Given the description of an element on the screen output the (x, y) to click on. 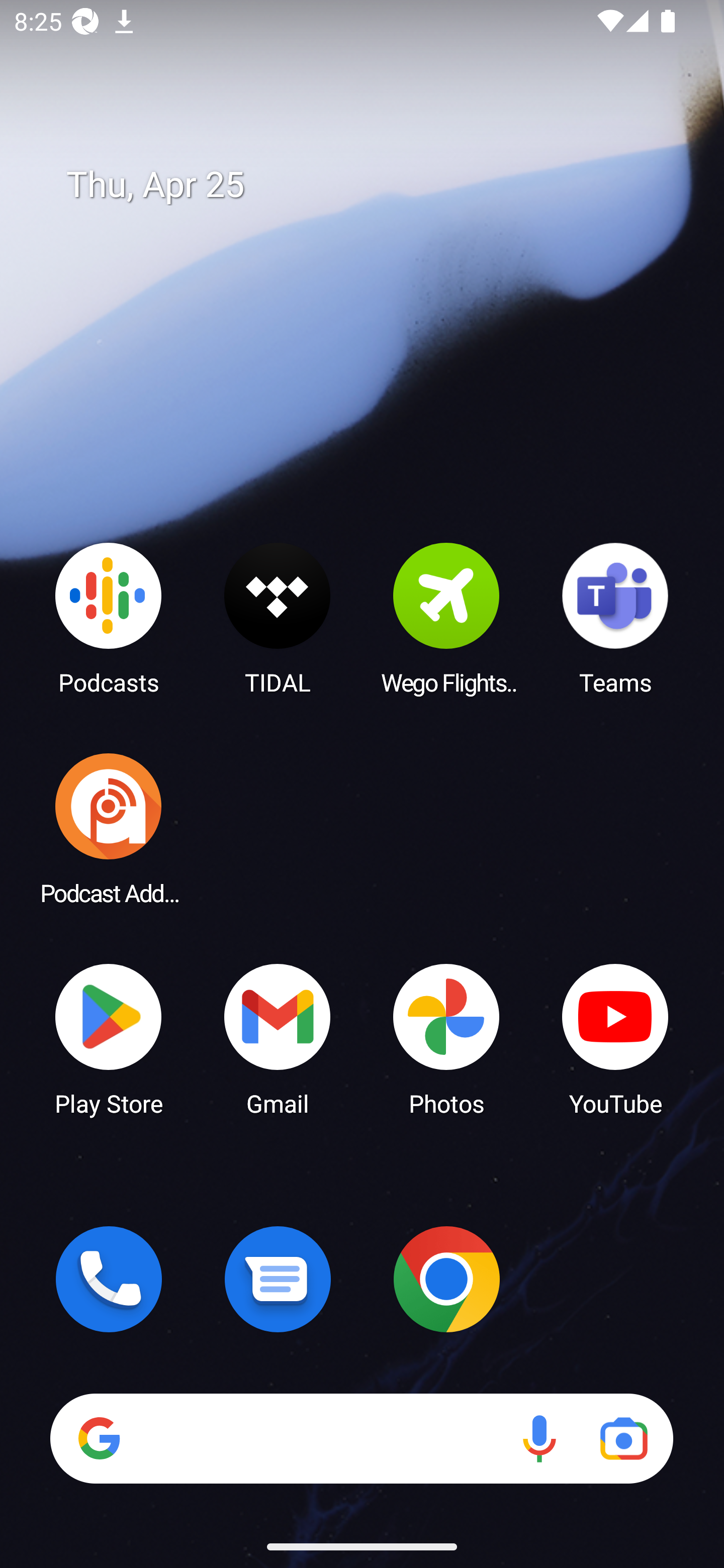
Thu, Apr 25 (375, 184)
Podcasts (108, 617)
TIDAL (277, 617)
Wego Flights & Hotels (445, 617)
Teams (615, 617)
Podcast Addict (108, 828)
Play Store (108, 1038)
Gmail (277, 1038)
Photos (445, 1038)
YouTube (615, 1038)
Phone (108, 1279)
Messages (277, 1279)
Chrome (446, 1279)
Search Voice search Google Lens (361, 1438)
Voice search (539, 1438)
Google Lens (623, 1438)
